Given the description of an element on the screen output the (x, y) to click on. 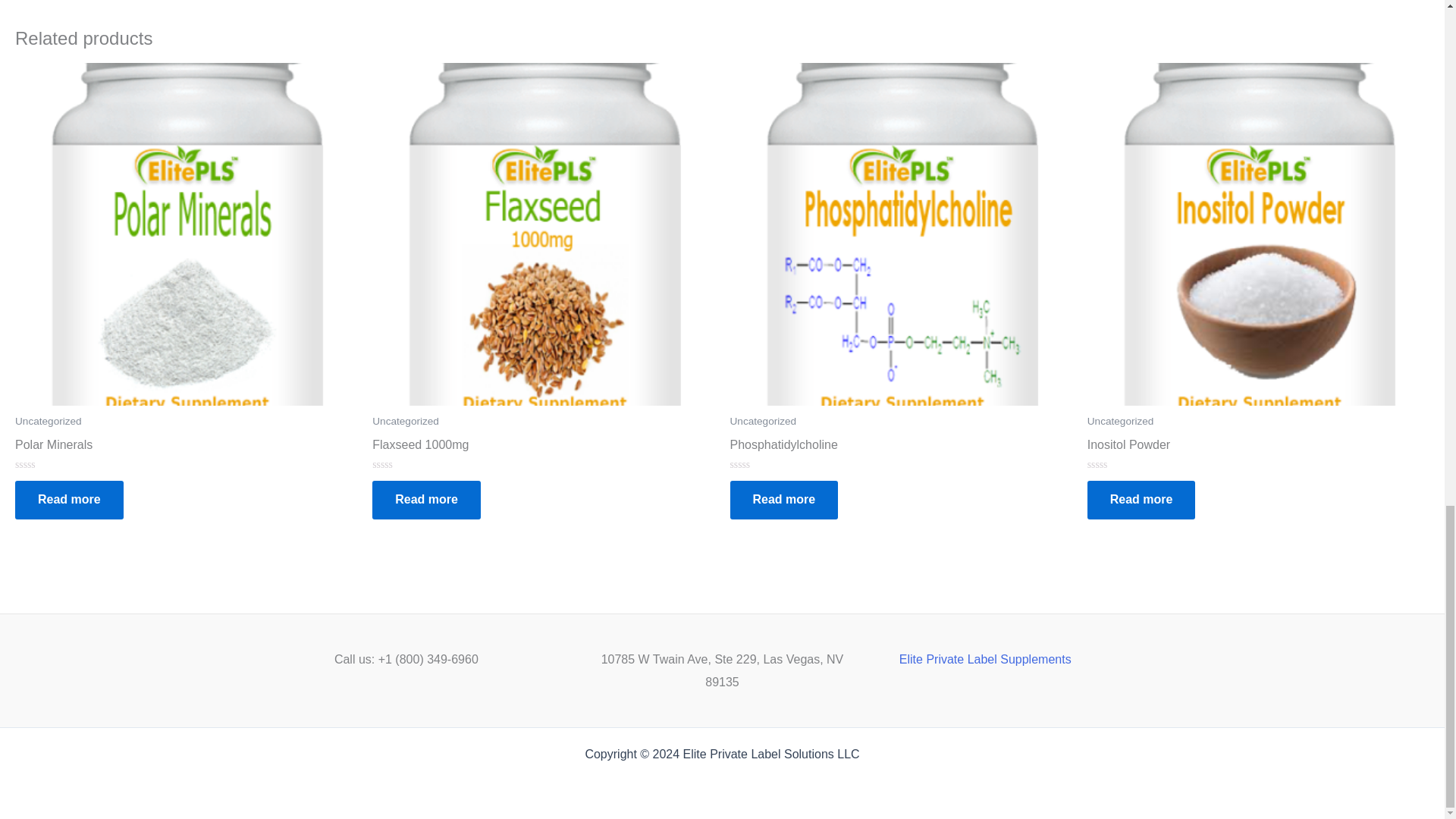
Read more (68, 499)
Read more (426, 499)
Polar Minerals (185, 448)
Flaxseed 1000mg (543, 448)
